Given the description of an element on the screen output the (x, y) to click on. 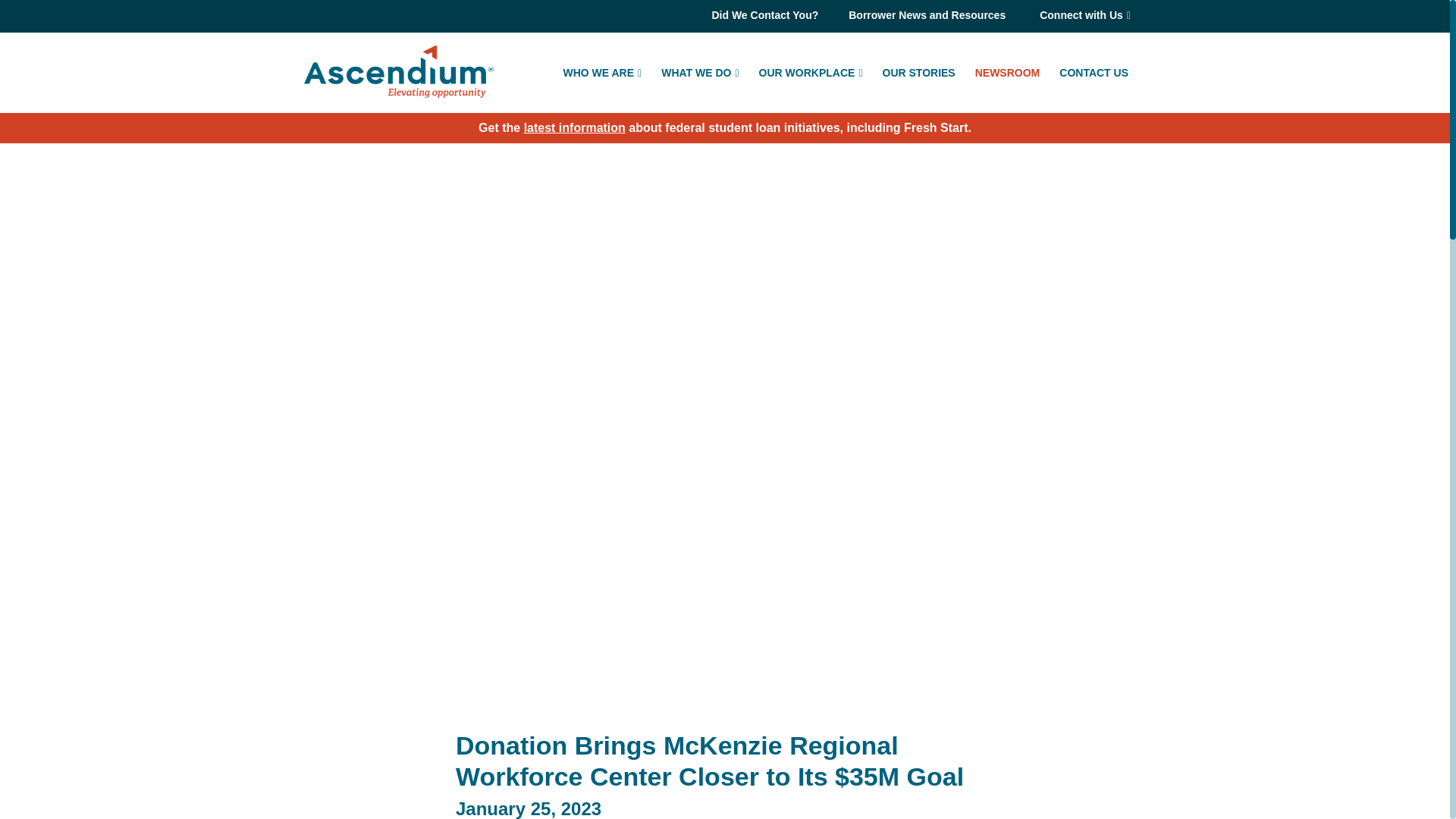
NEWSROOM (1007, 71)
Go to the Who We Are page (601, 71)
WHO WE ARE (601, 71)
Did We Contact You? (763, 15)
Go to the Home Page (398, 71)
OUR STORIES (918, 71)
CONTACT US (1093, 71)
OUR WORKPLACE (810, 71)
WHAT WE DO (699, 71)
Borrower News and Resources (926, 15)
Connect with Us (1085, 16)
Go to the Borrower News and Resources page (926, 15)
Go to the Did We Contact You? page (763, 15)
